Given the description of an element on the screen output the (x, y) to click on. 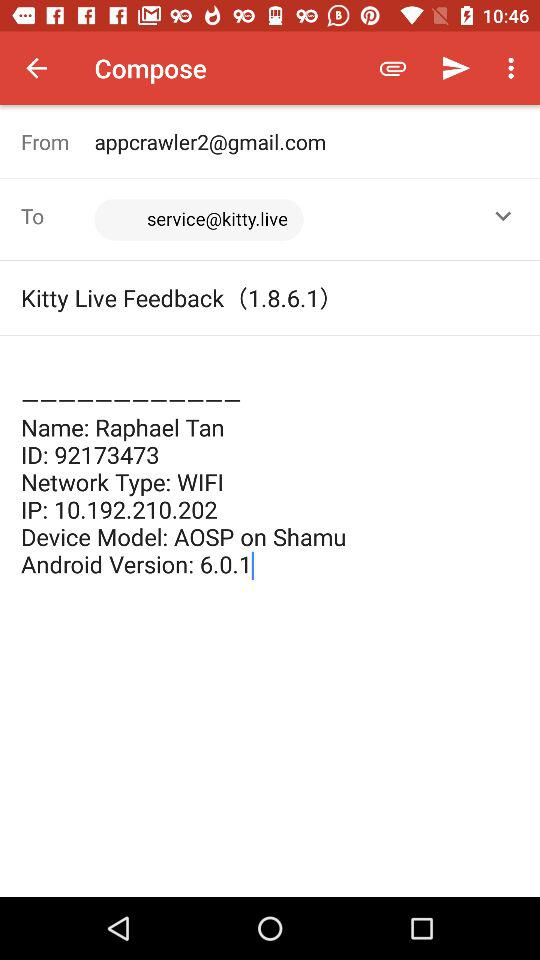
choose the item to the right of the <service@kitty.live>,  item (503, 215)
